Given the description of an element on the screen output the (x, y) to click on. 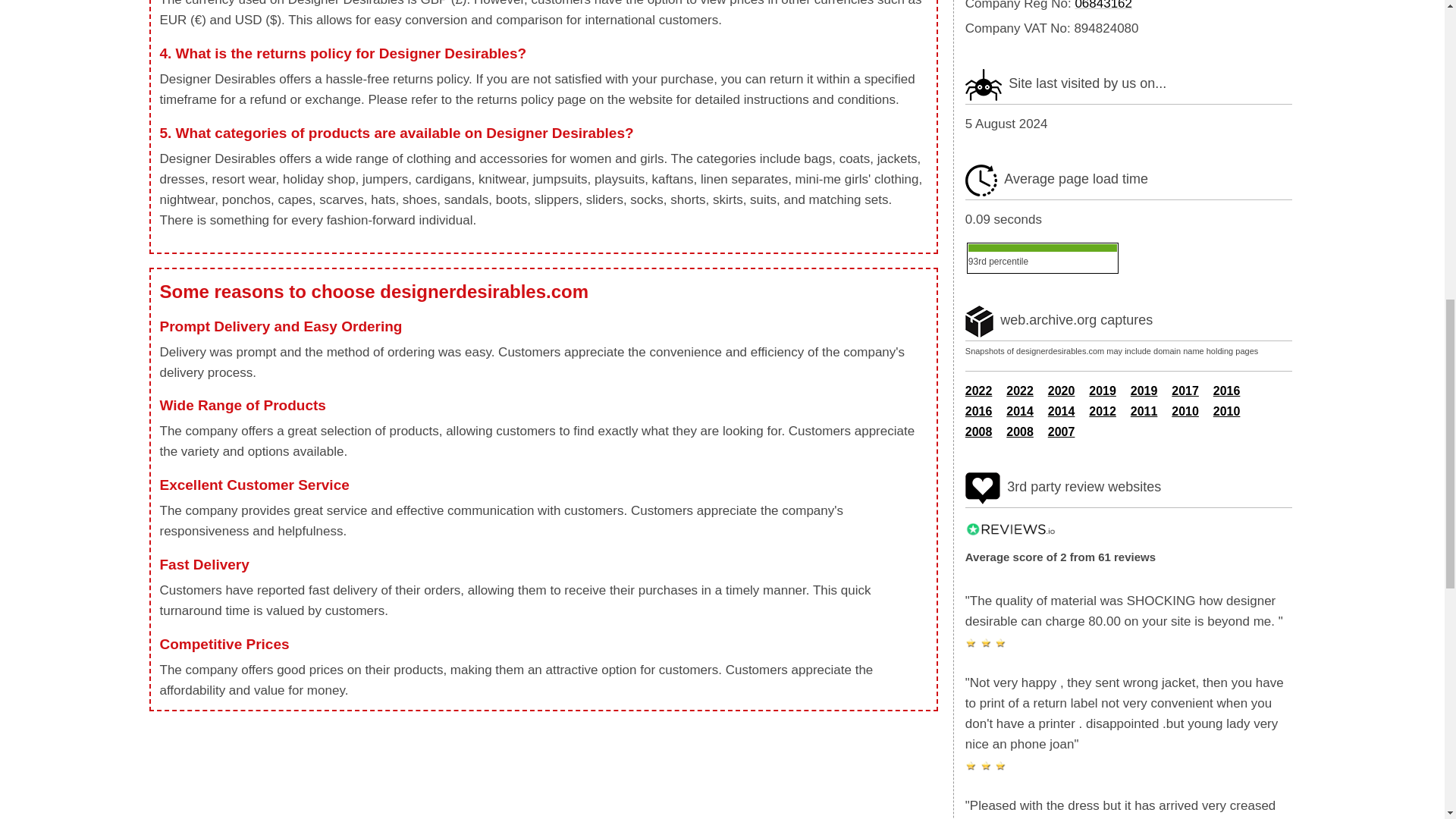
2020 (1061, 390)
2014 (1019, 410)
2019 (1102, 390)
2016 (1226, 390)
2019 (1144, 390)
2022 (1019, 390)
2012 (1102, 410)
2008 (978, 431)
2008 (1019, 431)
2010 (1185, 410)
